Given the description of an element on the screen output the (x, y) to click on. 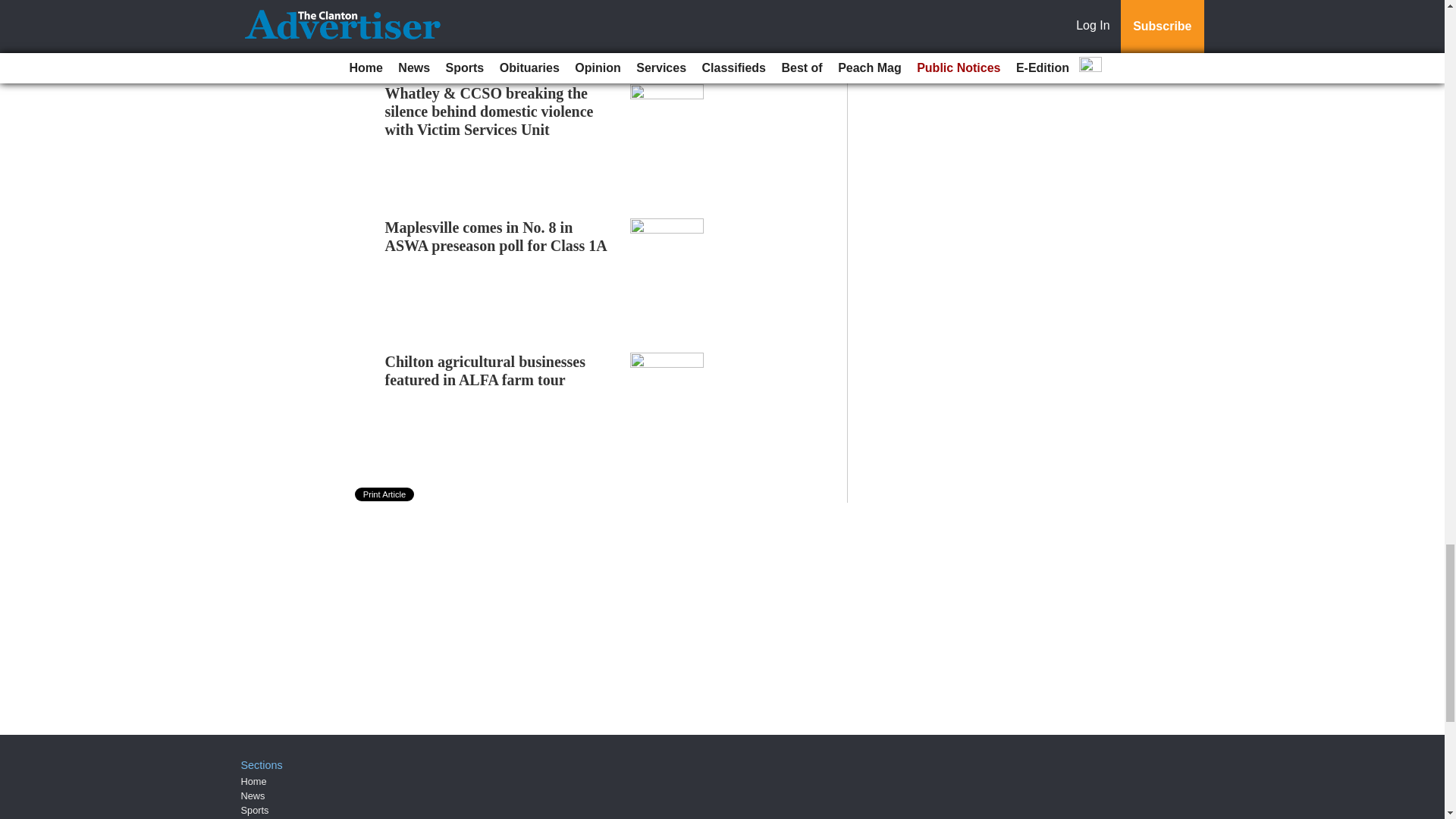
Chilton agricultural businesses featured in ALFA farm tour (485, 370)
Print Article (384, 494)
Chilton agricultural businesses featured in ALFA farm tour (485, 370)
